Given the description of an element on the screen output the (x, y) to click on. 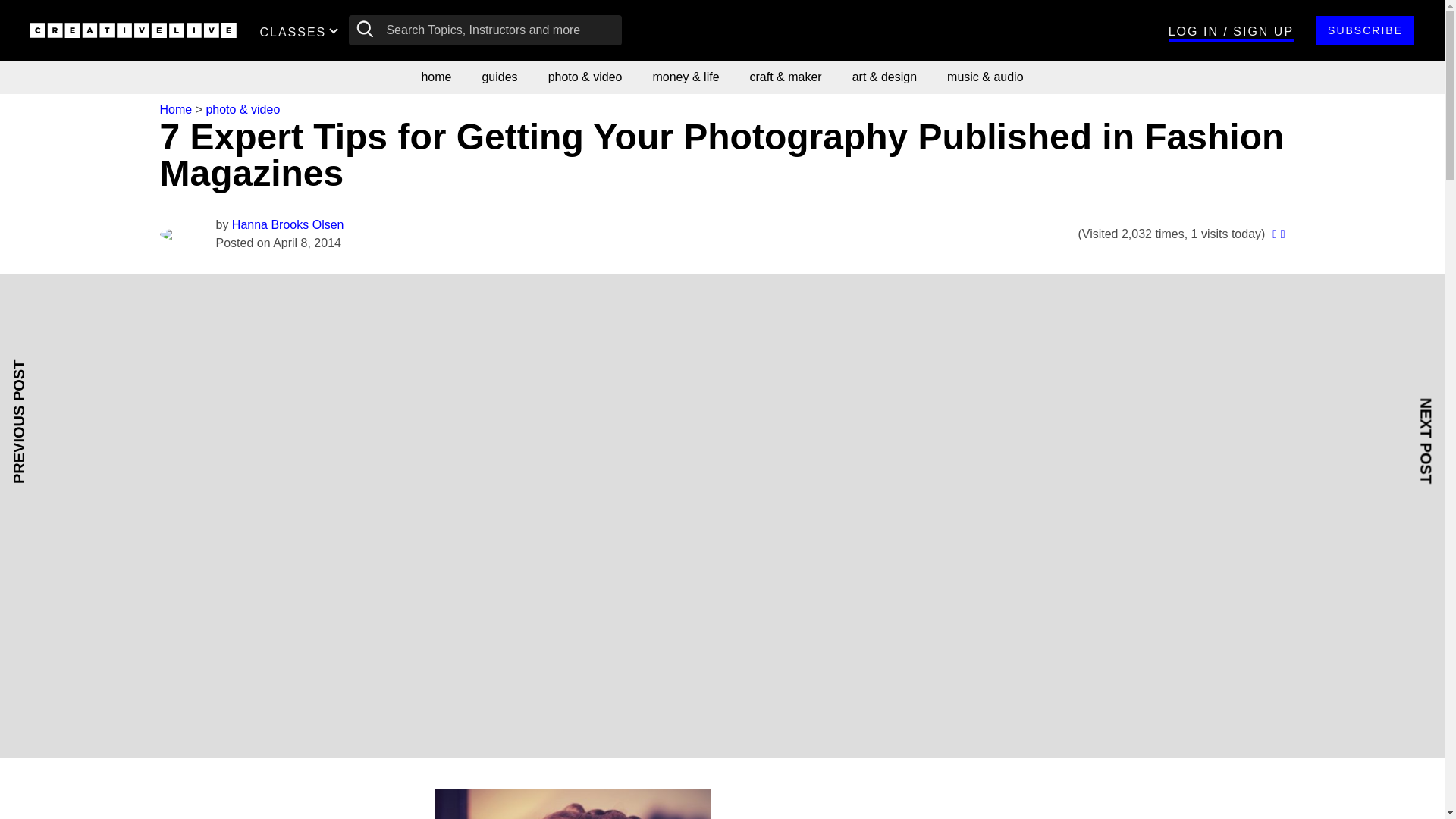
CLASSES (302, 30)
